Given the description of an element on the screen output the (x, y) to click on. 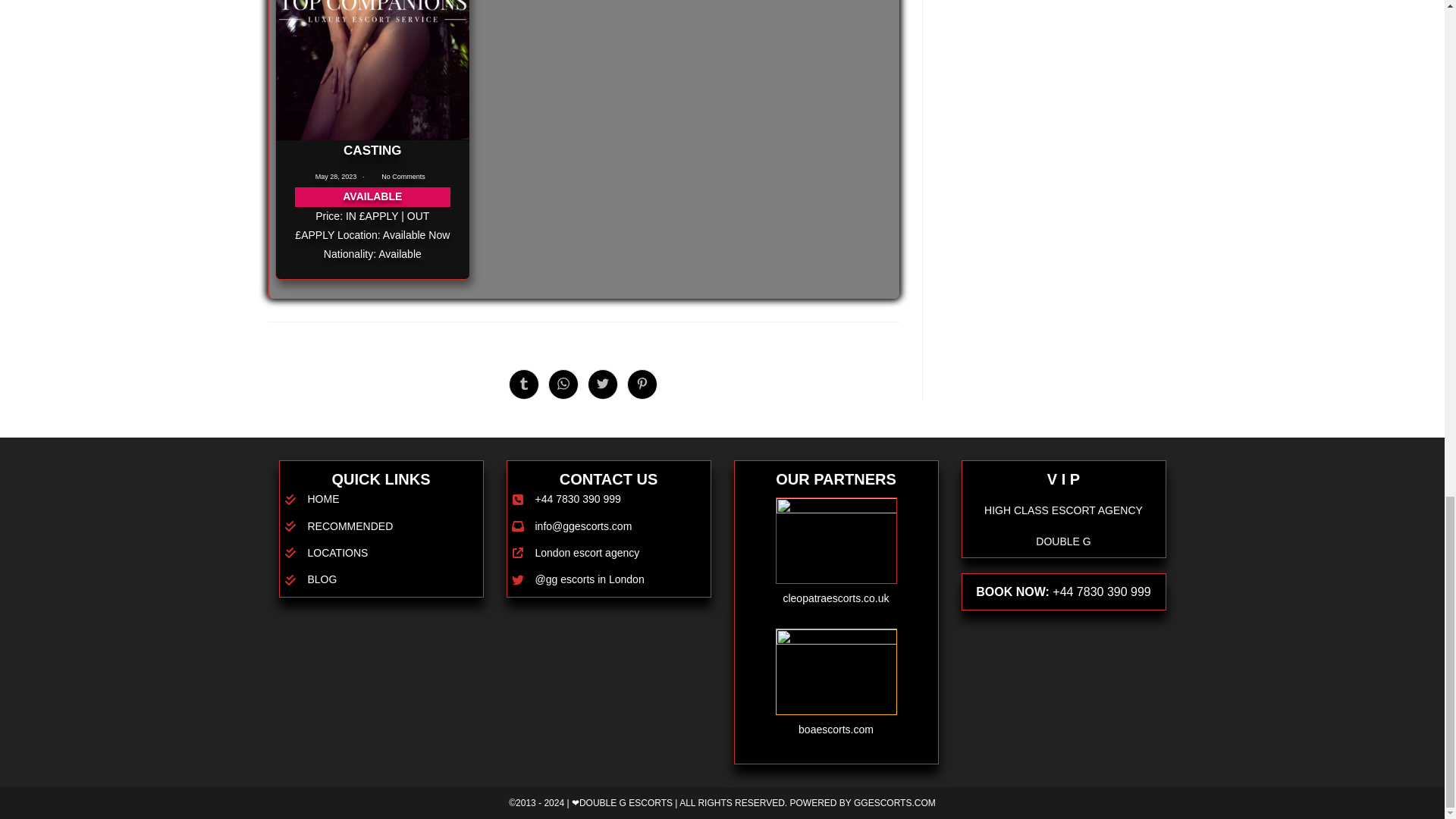
Opens in a new window (523, 384)
cleopatraescorts.co.uk (835, 598)
Opens in a new window (642, 384)
Opens in a new window (602, 384)
Opens in a new window (563, 384)
CASTING (372, 150)
